Given the description of an element on the screen output the (x, y) to click on. 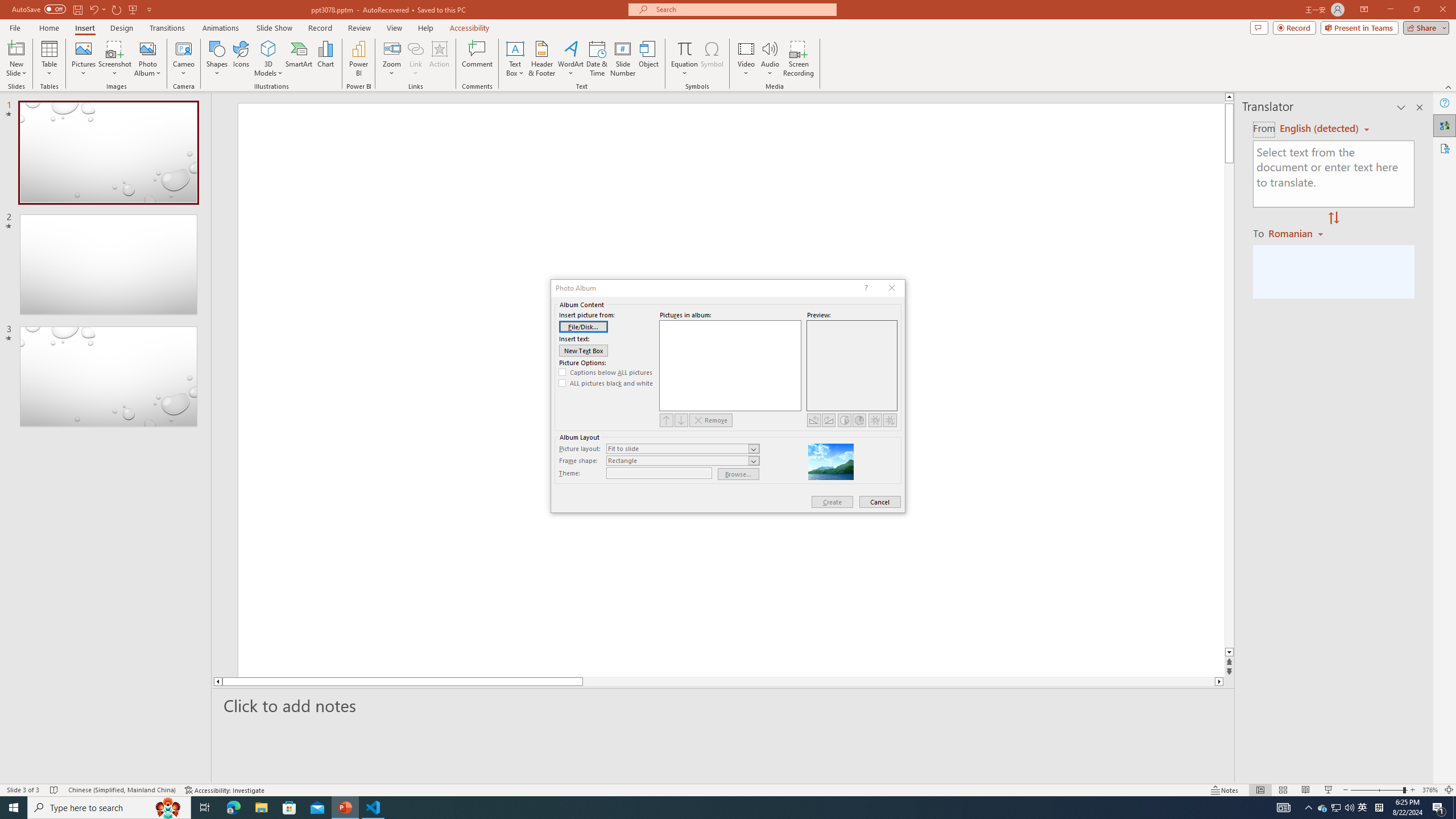
Chart... (325, 58)
Symbol... (711, 58)
Video (745, 58)
Create (831, 501)
Slide Number (622, 58)
Date & Time... (596, 58)
Equation (683, 58)
